Given the description of an element on the screen output the (x, y) to click on. 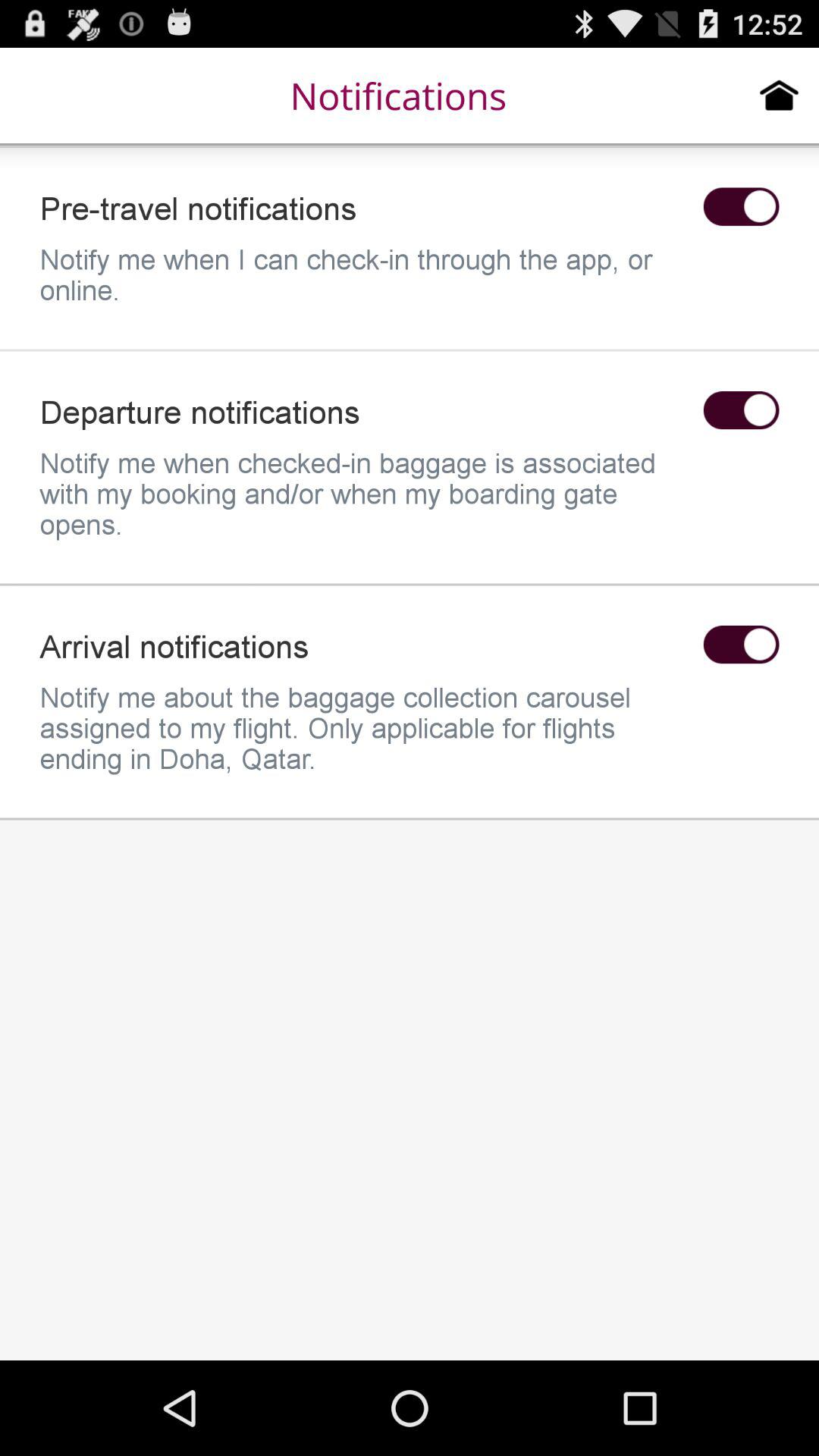
toggle notifications on or off (741, 206)
